Given the description of an element on the screen output the (x, y) to click on. 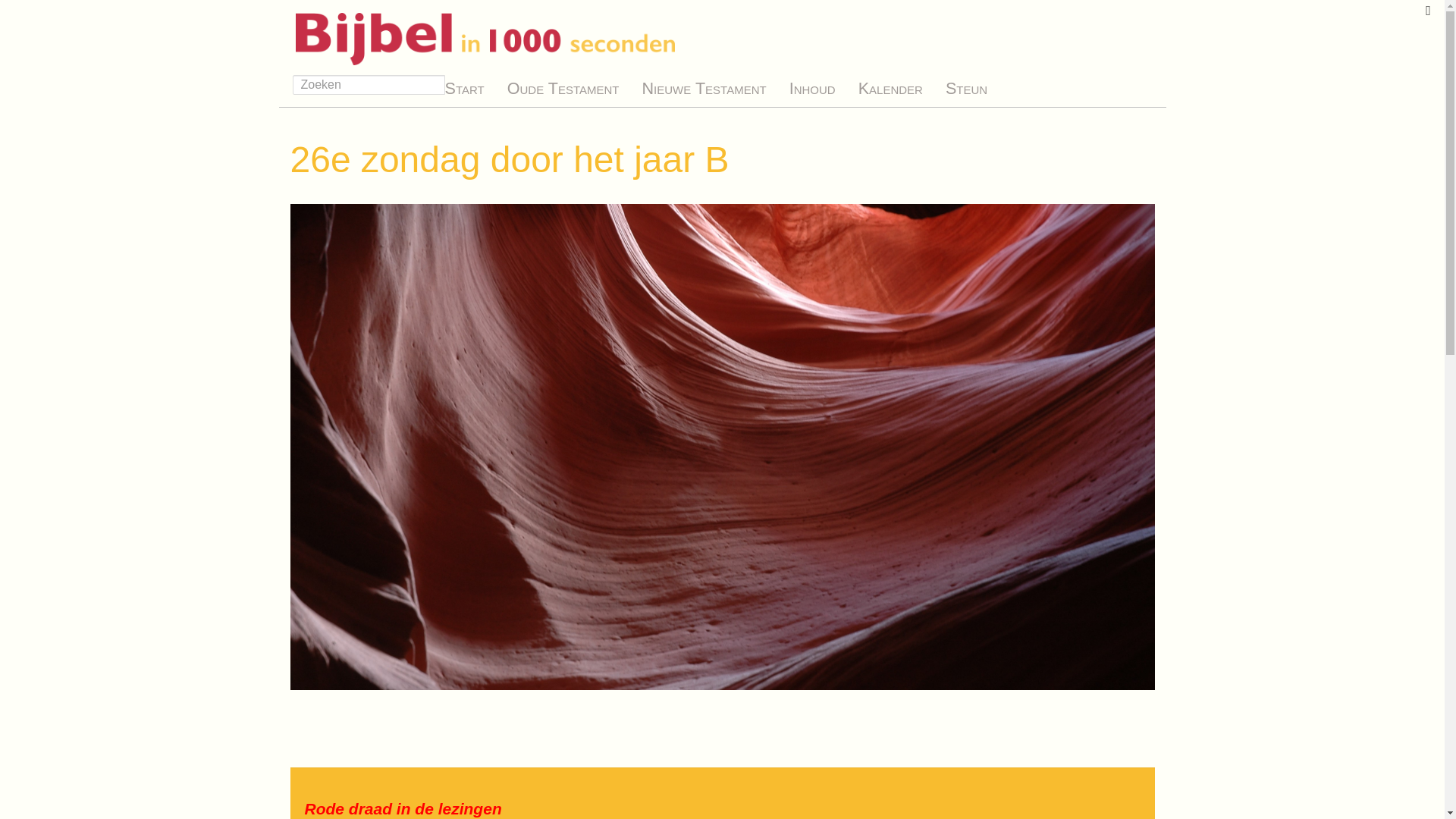
Start Element type: text (464, 87)
Inhoud Element type: text (812, 87)
Nieuwe Testament Element type: text (704, 87)
Kalender Element type: text (890, 87)
Fullscreen Element type: hover (1428, 10)
Oude Testament Element type: text (562, 87)
Steun Element type: text (966, 87)
26e zondag door het jaar B Element type: text (508, 159)
Bijbel in 1000 seconden Element type: hover (478, 34)
